Given the description of an element on the screen output the (x, y) to click on. 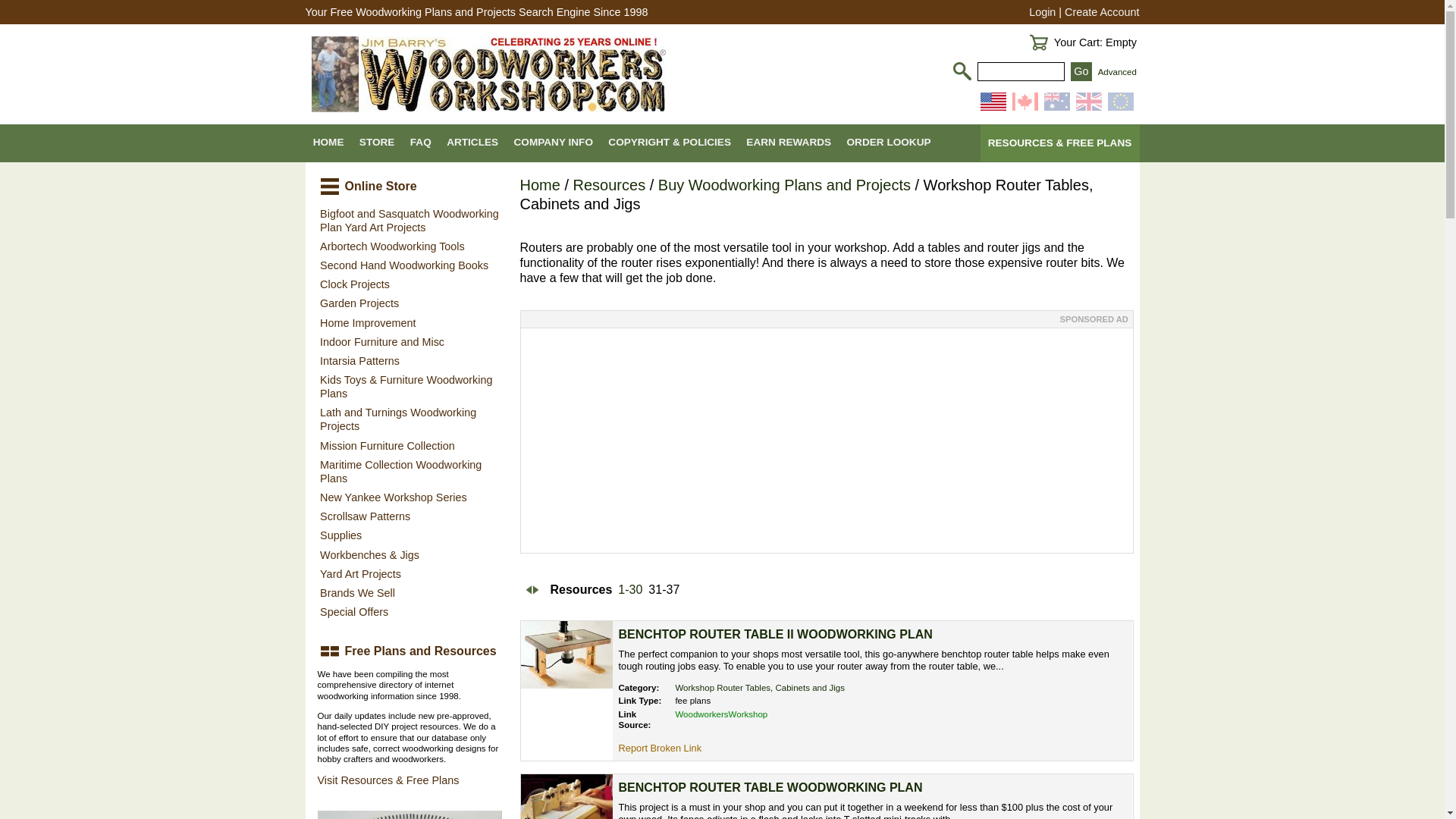
Benchtop Router Table Woodworking Plan (770, 787)
Workshop Router Tables, Cabinets and Jigs (759, 687)
Buy Woodworking Plans and Projects (784, 184)
Advertisement (825, 440)
Benchtop Router Table II Woodworking Plan (775, 634)
Report Broken Link (659, 747)
Home (539, 184)
Benchtop Router Table II Woodworking Plan (565, 654)
1-30 (629, 589)
1-30 (629, 589)
BENCHTOP ROUTER TABLE WOODWORKING PLAN (770, 787)
Benchtop Router Table Woodworking Plan (565, 796)
Home (539, 184)
BENCHTOP ROUTER TABLE II WOODWORKING PLAN (775, 634)
Workshop Router Tables, Cabinets and Jigs (759, 687)
